Given the description of an element on the screen output the (x, y) to click on. 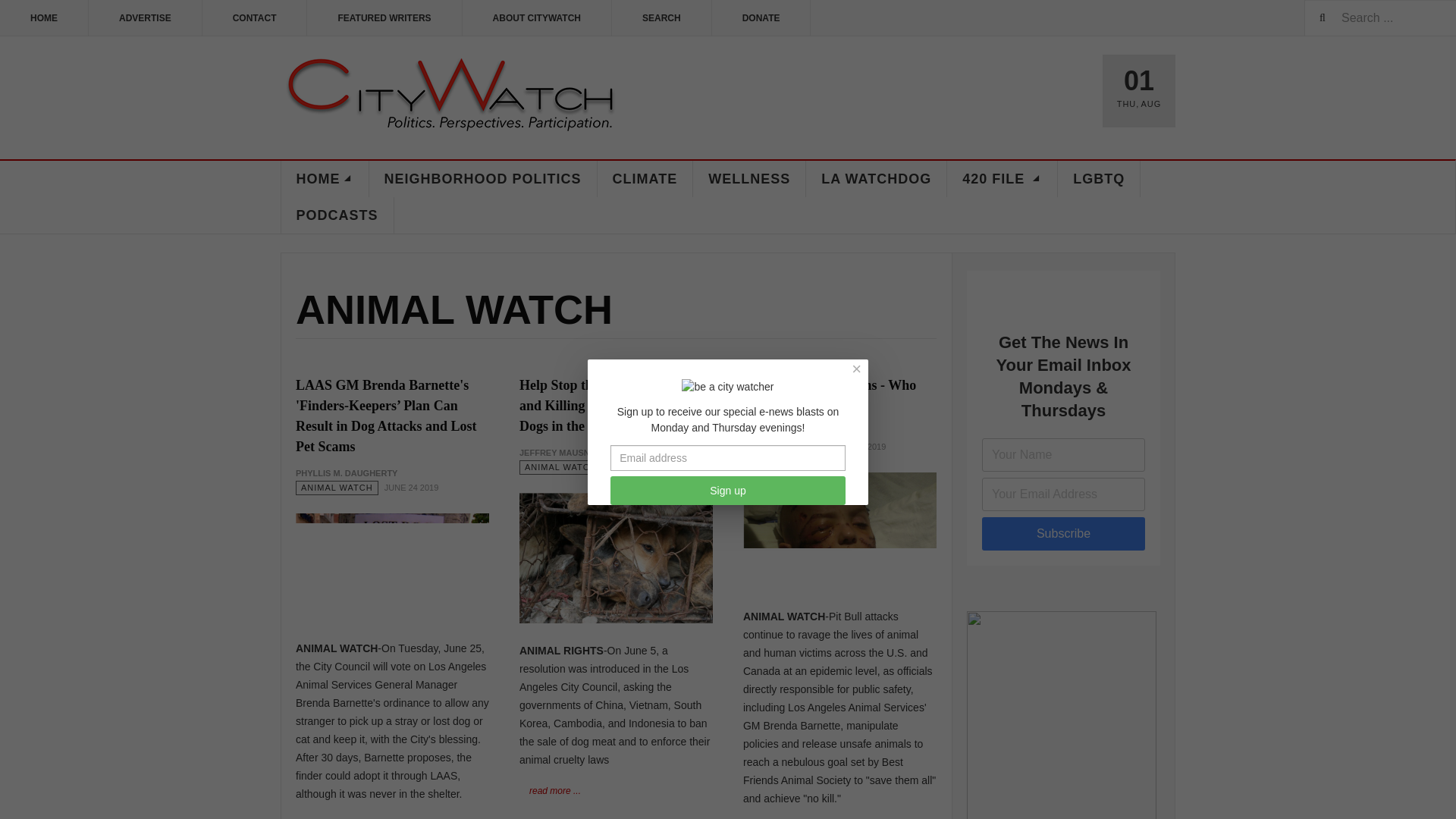
Written by  (560, 452)
WELLNESS (749, 178)
LGBTQ (1099, 178)
Pit Bull Attack Victims - Who Speaks for Them? (828, 395)
Category:  (783, 446)
Written by  (346, 473)
ADVERTISE (145, 18)
CONTACT (254, 18)
420 FILE (1002, 178)
SEARCH (661, 18)
HOME (324, 178)
HOME (44, 18)
ABOUT CITYWATCH (537, 18)
PODCASTS (337, 215)
